Given the description of an element on the screen output the (x, y) to click on. 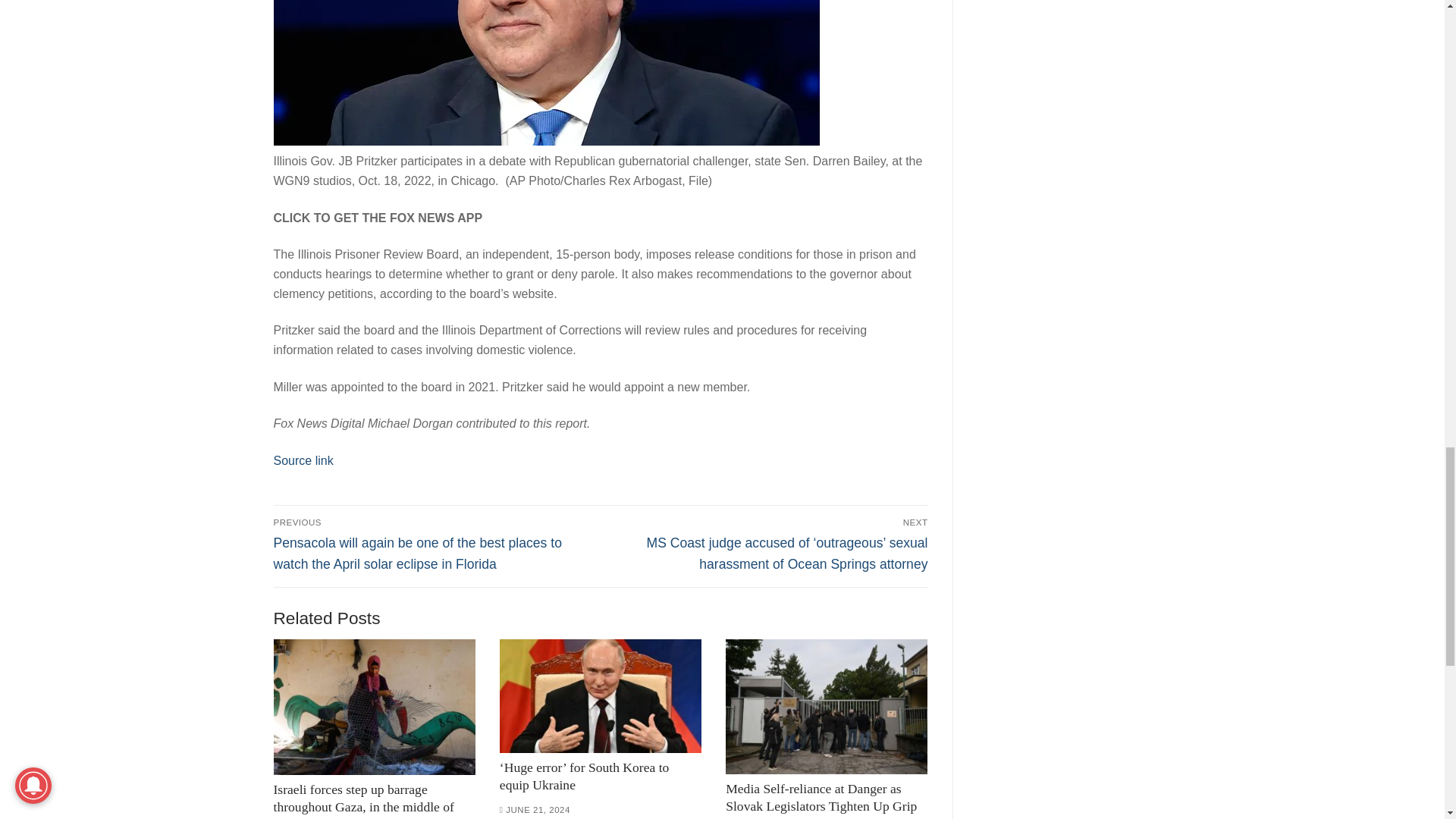
Source link (303, 460)
JUNE 21, 2024 (534, 809)
